Given the description of an element on the screen output the (x, y) to click on. 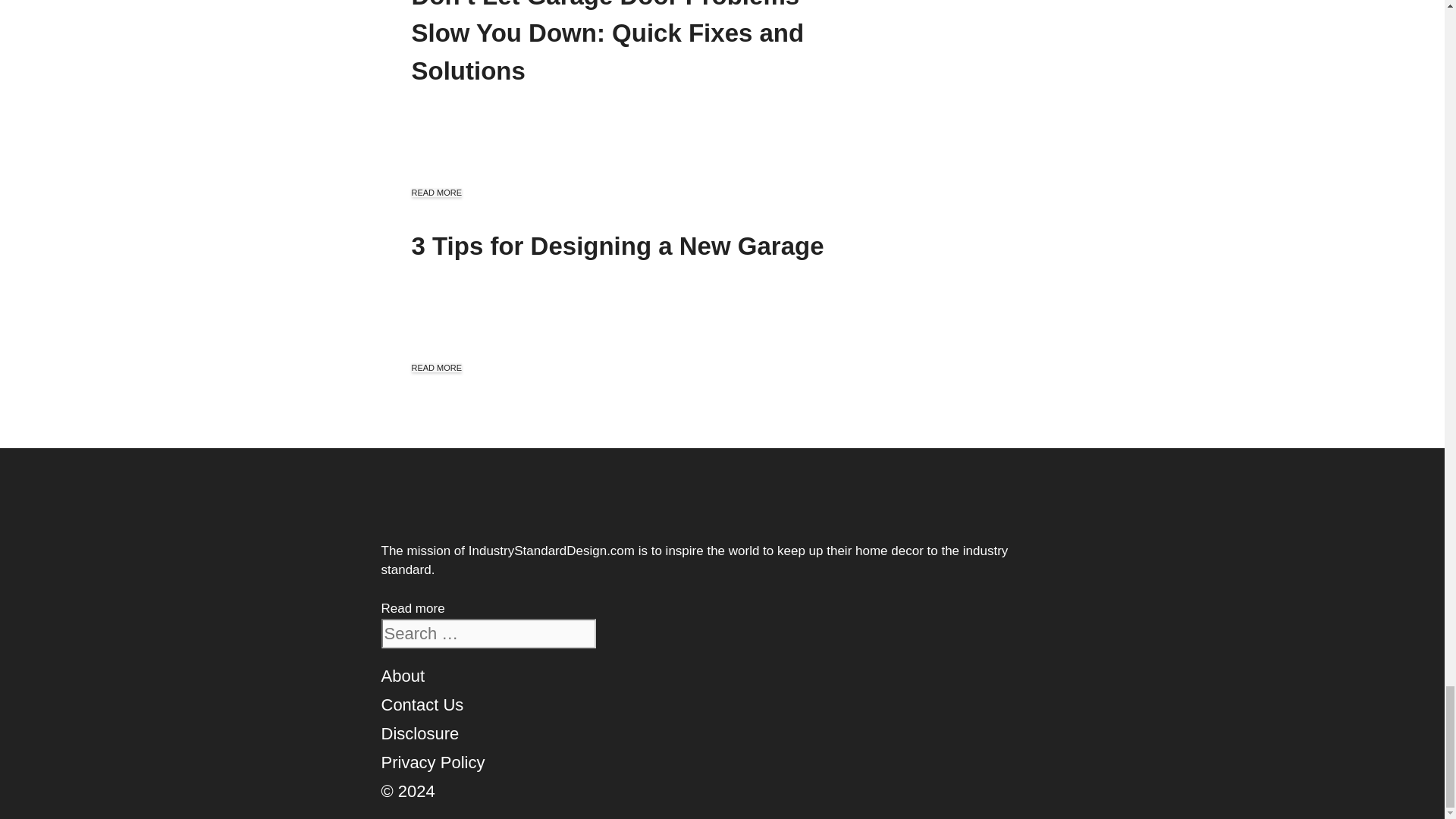
3 Tips for Designing a New Garage (617, 245)
Search for: (487, 633)
3 Tips for Designing a New Garage (617, 245)
READ MORE (435, 367)
READ MORE (435, 192)
